Given the description of an element on the screen output the (x, y) to click on. 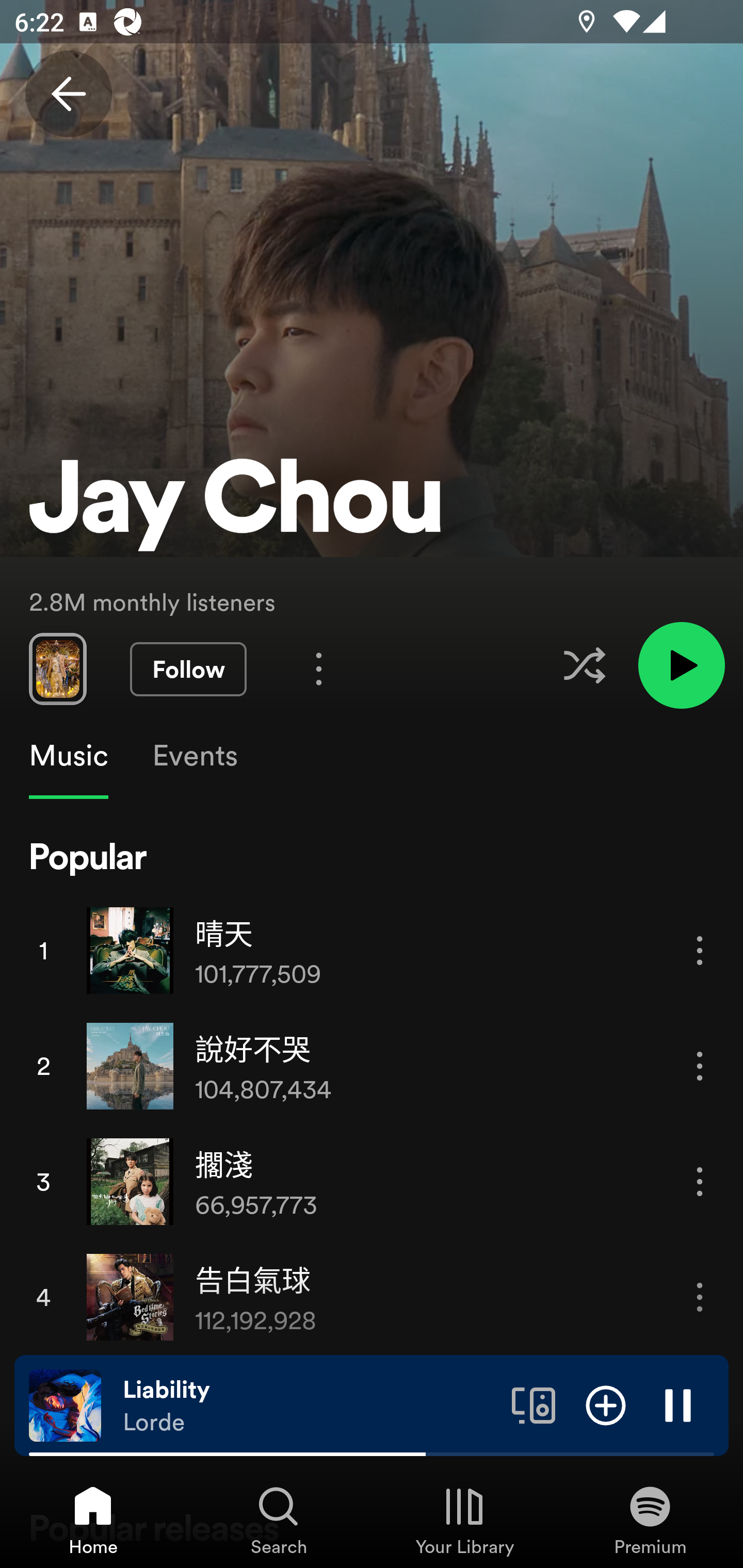
Back (68, 93)
Play artist (681, 664)
Enable shuffle for this artist (583, 665)
More options for artist Jay Chou (318, 668)
Follow (188, 669)
Events (194, 755)
1 晴天 101,777,509 More options for song 晴天 (371, 950)
More options for song 晴天 (699, 950)
2 說好不哭 104,807,434 More options for song 說好不哭 (371, 1066)
More options for song 說好不哭 (699, 1066)
3 擱淺 66,957,773 More options for song 擱淺 (371, 1181)
More options for song 擱淺 (699, 1181)
4 告白氣球 112,192,928 More options for song 告白氣球 (371, 1296)
More options for song 告白氣球 (699, 1297)
Liability Lorde (309, 1405)
The cover art of the currently playing track (64, 1404)
Connect to a device. Opens the devices menu (533, 1404)
Add item (605, 1404)
Pause (677, 1404)
Home, Tab 1 of 4 Home Home (92, 1519)
Search, Tab 2 of 4 Search Search (278, 1519)
Your Library, Tab 3 of 4 Your Library Your Library (464, 1519)
Premium, Tab 4 of 4 Premium Premium (650, 1519)
